Given the description of an element on the screen output the (x, y) to click on. 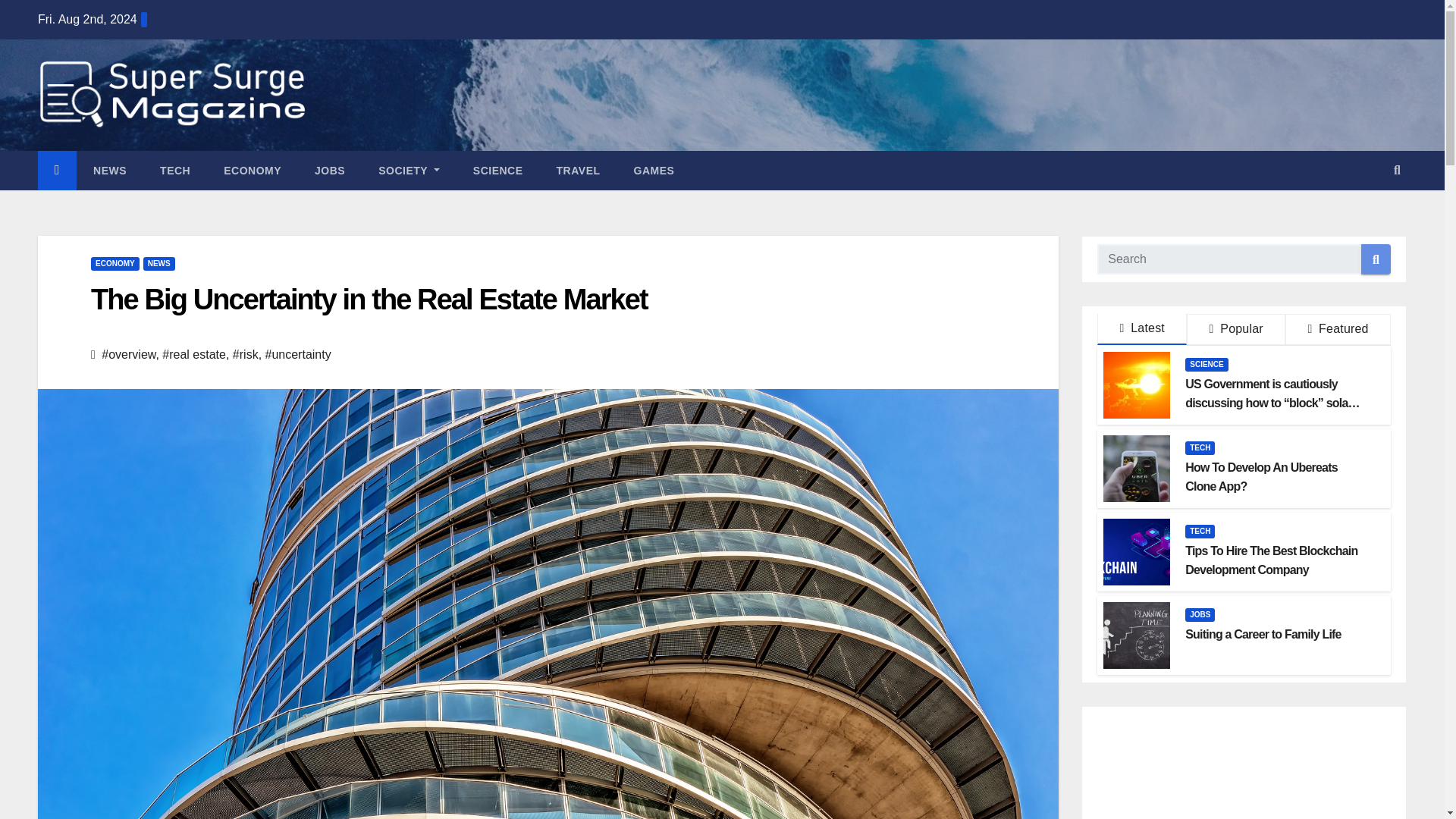
Economy (252, 170)
Travel (578, 170)
The Big Uncertainty in the Real Estate Market (368, 299)
TRAVEL (578, 170)
TECH (174, 170)
GAMES (654, 170)
SCIENCE (498, 170)
News (109, 170)
Games (654, 170)
SOCIETY (409, 170)
Jobs (329, 170)
Society (409, 170)
NEWS (109, 170)
NEWS (158, 264)
ECONOMY (252, 170)
